Given the description of an element on the screen output the (x, y) to click on. 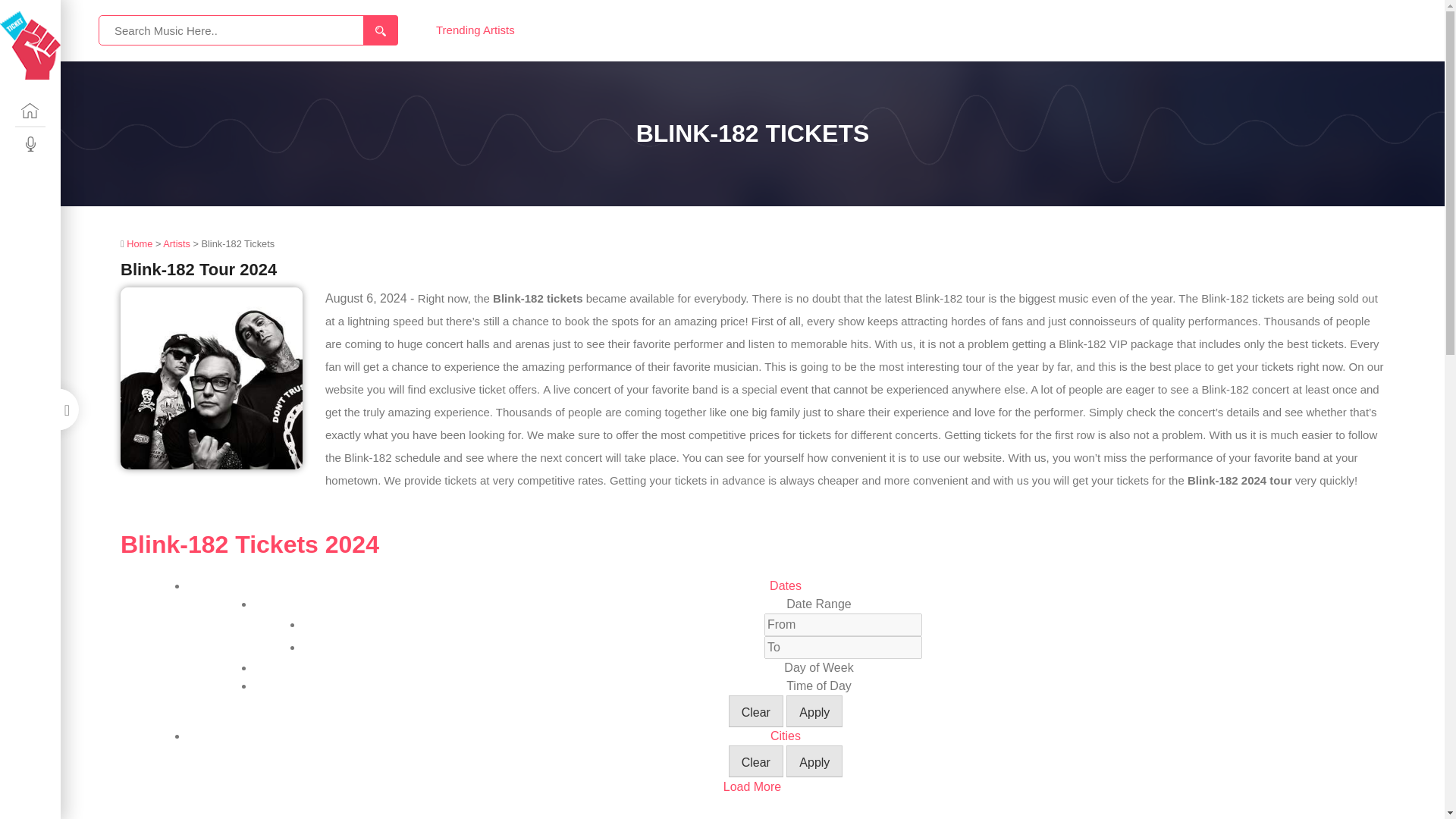
Search Music Here.. (248, 30)
Trending Artists (475, 29)
Clear (756, 711)
Home (30, 111)
Apply (814, 711)
Home (137, 243)
Search Music Here.. (248, 30)
TOP Artists (30, 143)
Clear (756, 761)
Dates (786, 585)
